Given the description of an element on the screen output the (x, y) to click on. 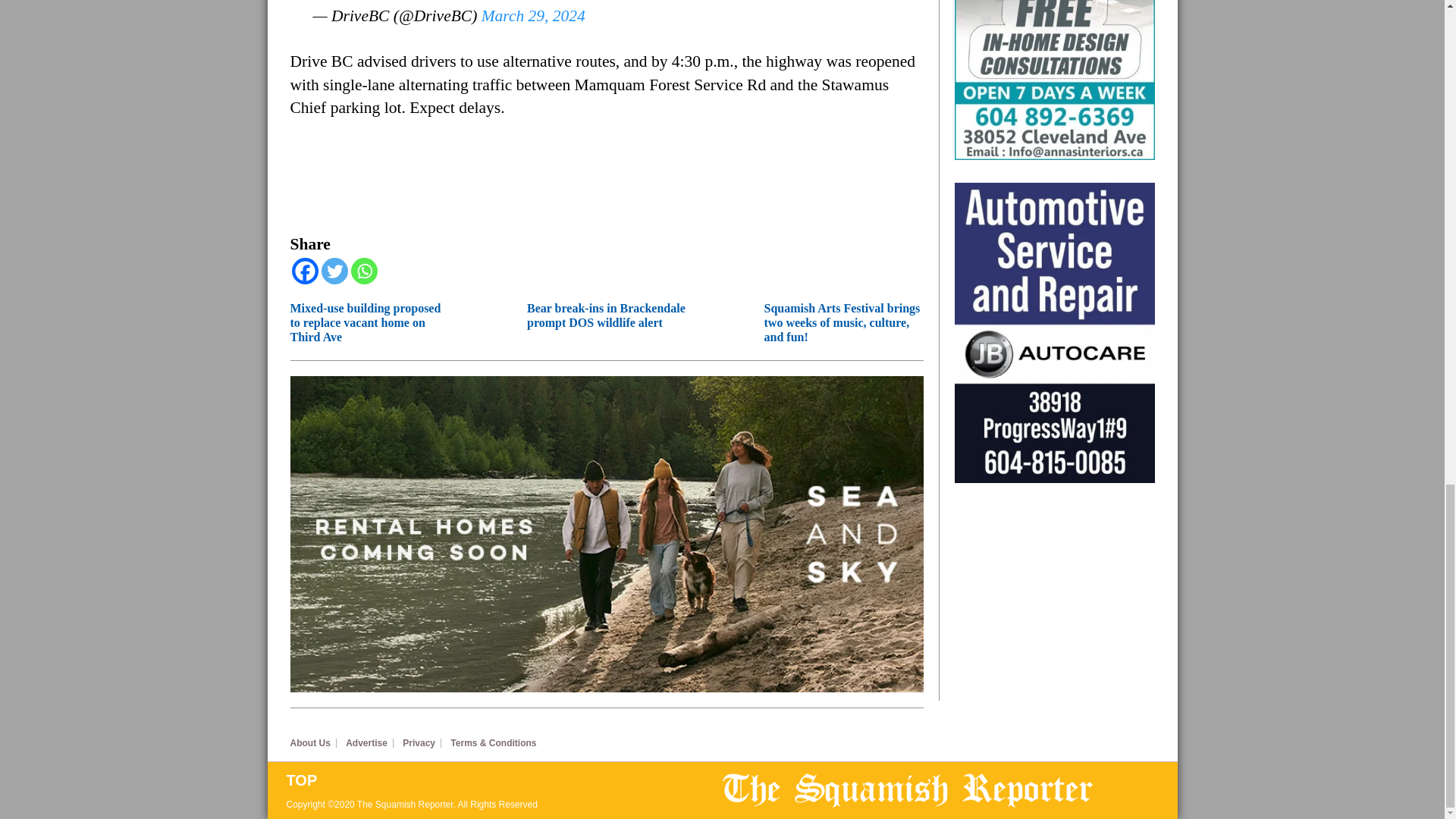
Back To Top (504, 780)
March 29, 2024 (533, 15)
Facebook (304, 270)
Twitter (334, 270)
Whatsapp (363, 270)
